Given the description of an element on the screen output the (x, y) to click on. 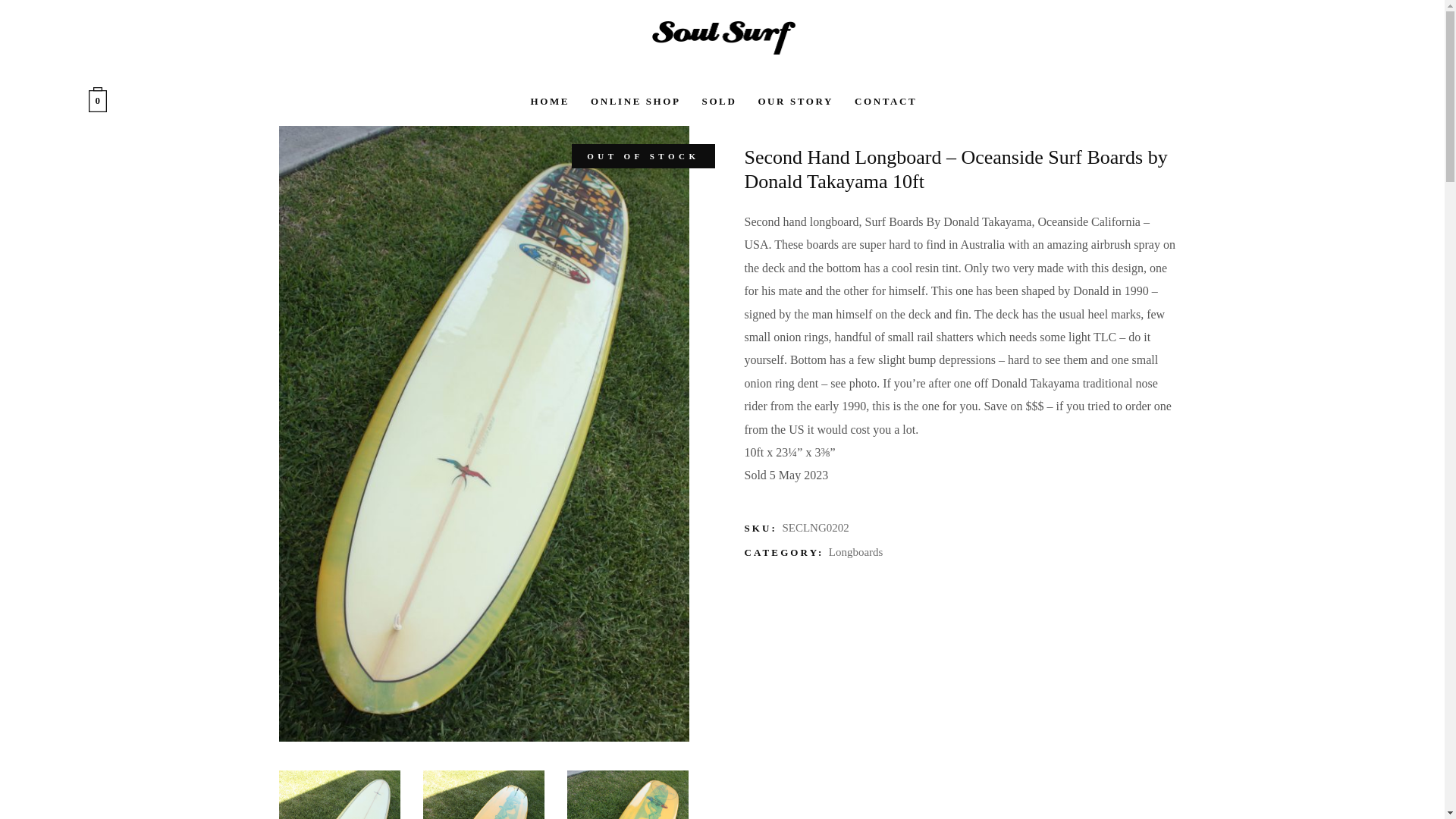
HOME (549, 101)
CONTACT (885, 101)
0 (97, 101)
ONLINE SHOP (635, 101)
OUR STORY (795, 101)
SOLD (719, 101)
